Given the description of an element on the screen output the (x, y) to click on. 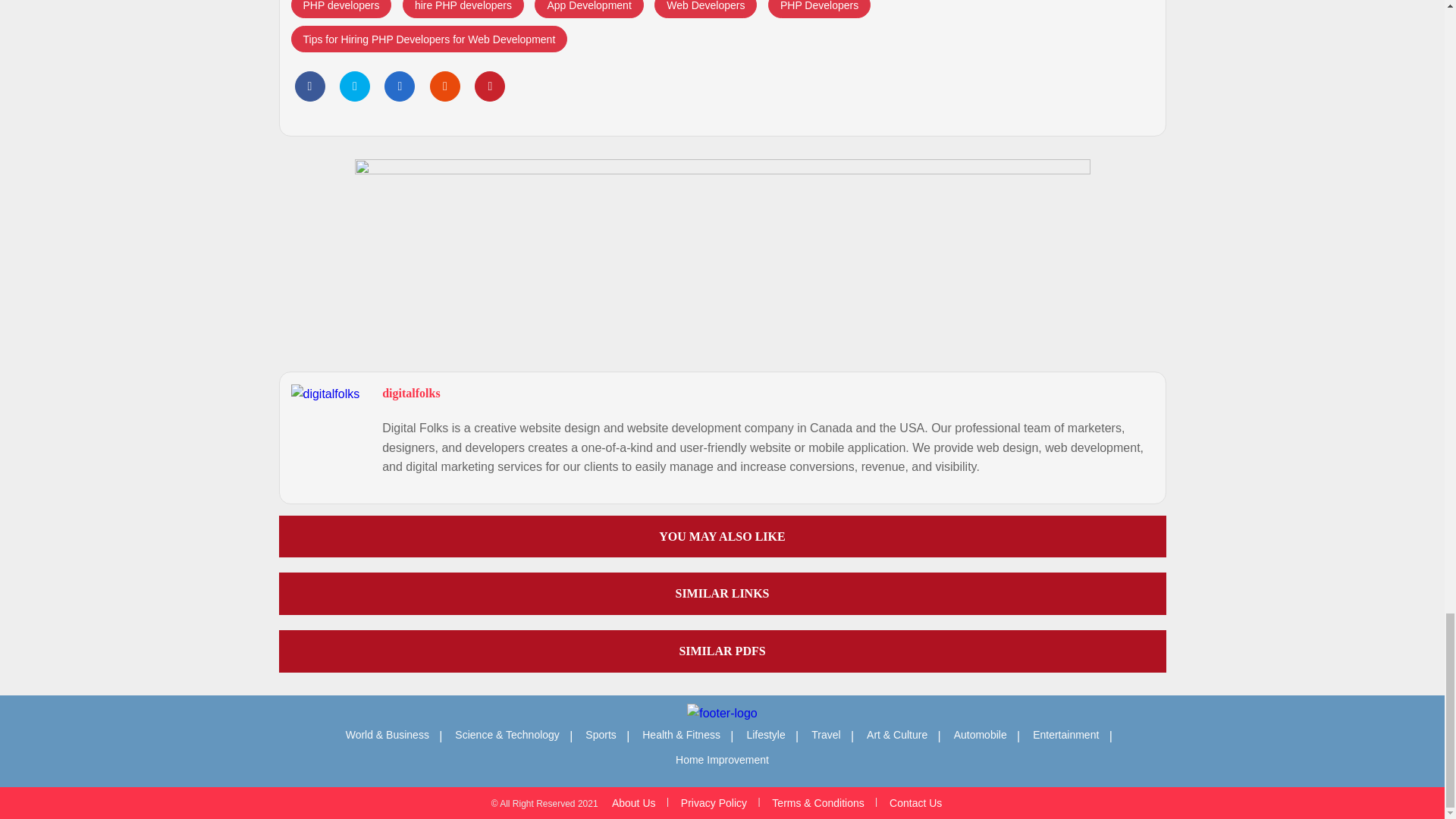
PHP Developers (819, 9)
facebook share - pdfslider (309, 86)
PHP developers (341, 9)
pinterest share - pdfslider (489, 86)
Web Developers (705, 9)
Tips for Hiring PHP Developers for Web Development (429, 38)
App Development (588, 9)
digitalfolks (410, 392)
twitter share - pdfslider (354, 86)
hire PHP developers (463, 9)
